Given the description of an element on the screen output the (x, y) to click on. 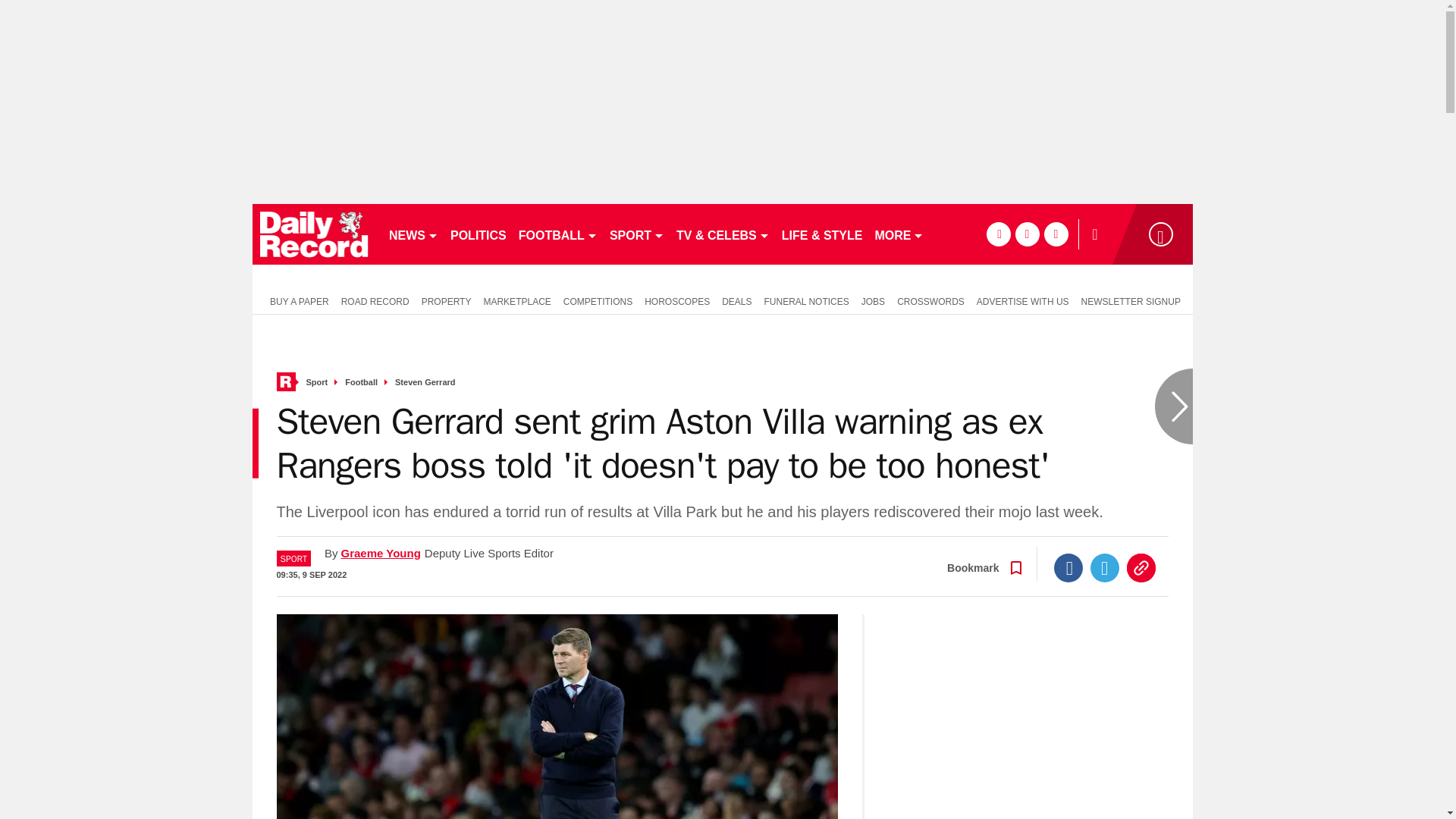
NEWS (413, 233)
SPORT (636, 233)
Twitter (1104, 567)
instagram (1055, 233)
twitter (1026, 233)
POLITICS (478, 233)
Facebook (1068, 567)
facebook (997, 233)
FOOTBALL (558, 233)
dailyrecord (313, 233)
